Given the description of an element on the screen output the (x, y) to click on. 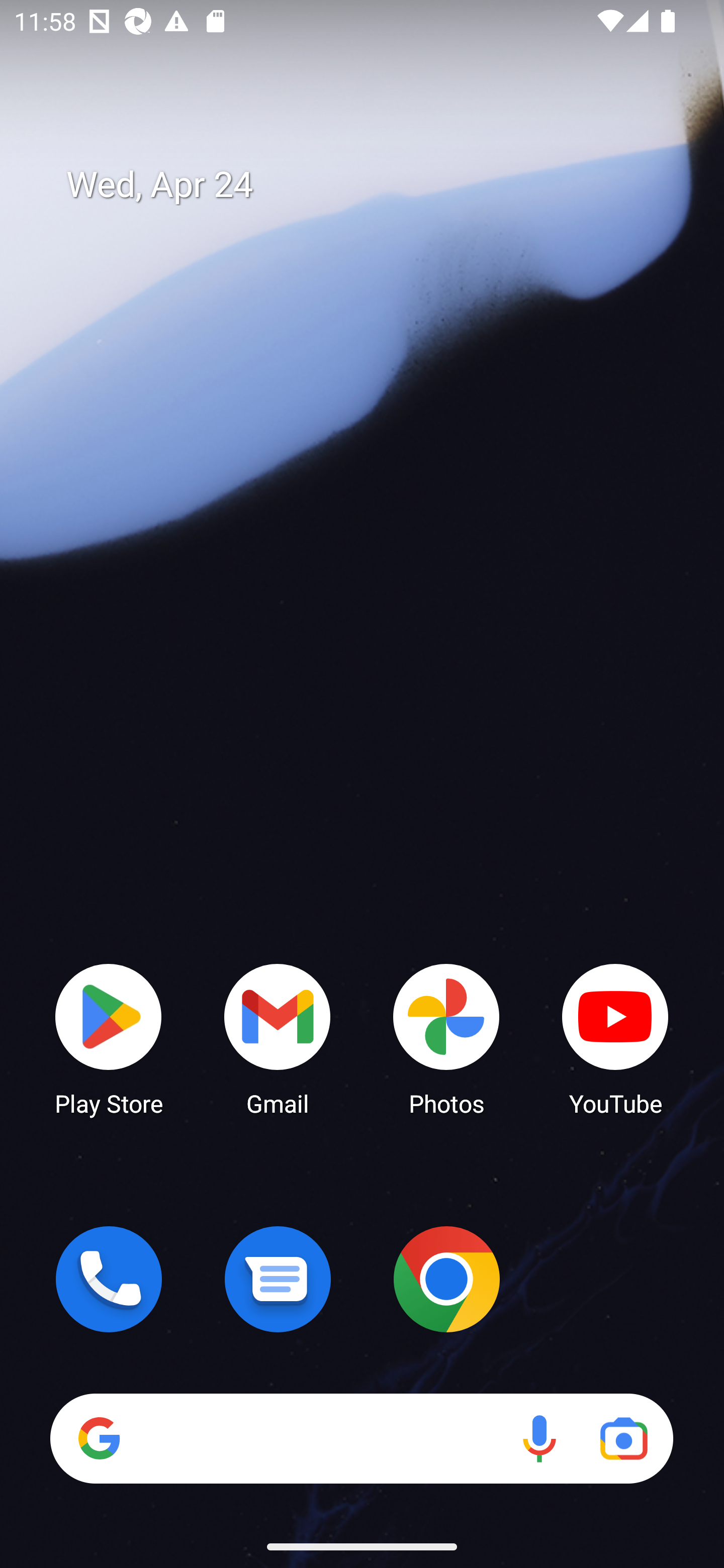
Wed, Apr 24 (375, 184)
Play Store (108, 1038)
Gmail (277, 1038)
Photos (445, 1038)
YouTube (615, 1038)
Phone (108, 1279)
Messages (277, 1279)
Chrome (446, 1279)
Search Voice search Google Lens (361, 1438)
Voice search (539, 1438)
Google Lens (623, 1438)
